Given the description of an element on the screen output the (x, y) to click on. 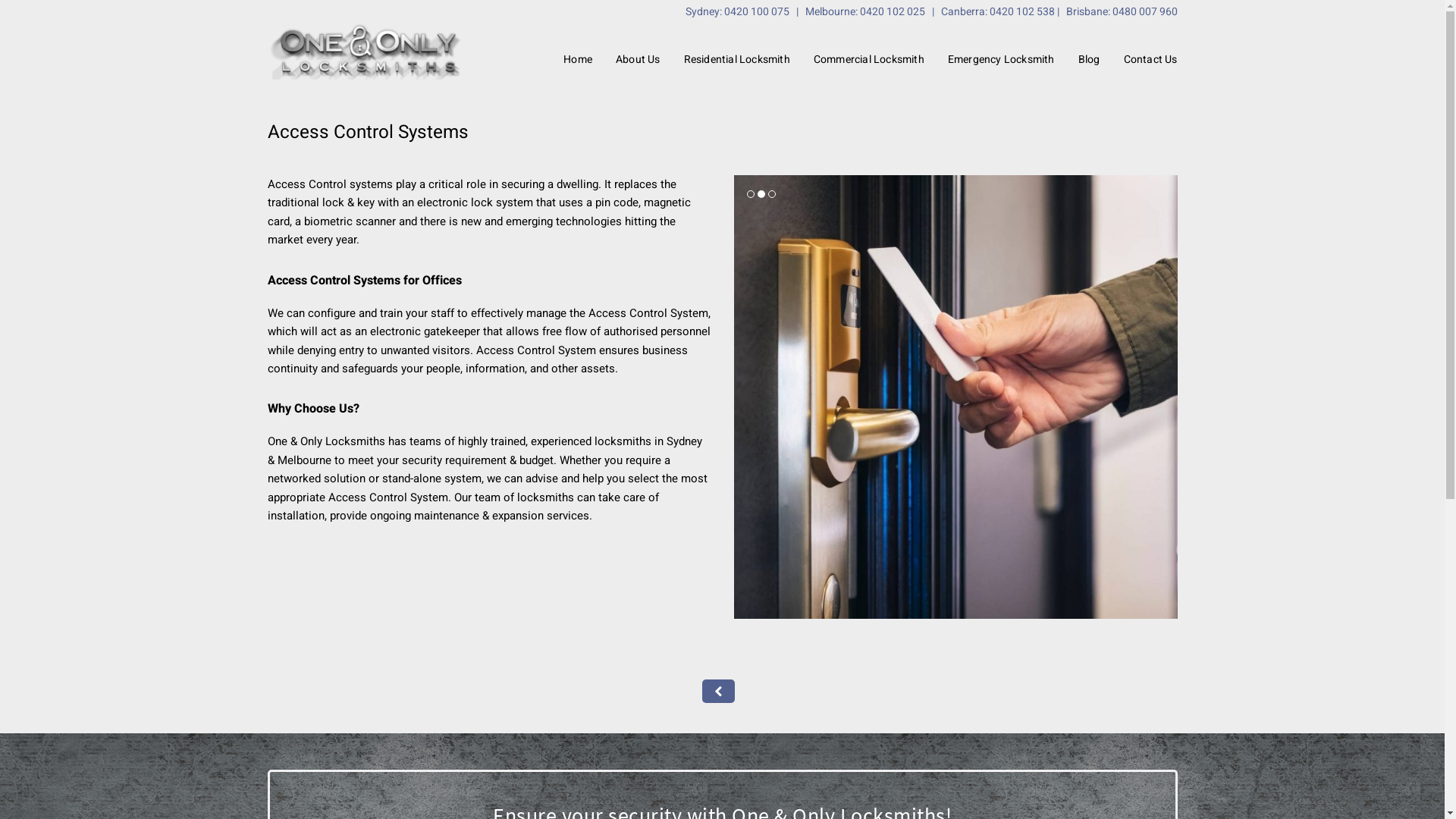
Emergency Locksmith Element type: text (1001, 59)
0420 102 025 Element type: text (892, 11)
Commercial Locksmith Element type: text (868, 59)
Contact Us Element type: text (1149, 59)
Blog Element type: text (1088, 59)
Residential Locksmith Element type: text (736, 59)
0480 007 960 Element type: text (1143, 11)
0420 100 075 Element type: text (755, 11)
Home Element type: text (577, 59)
About Us Element type: text (637, 59)
0420 102 538 Element type: text (1021, 11)
